Given the description of an element on the screen output the (x, y) to click on. 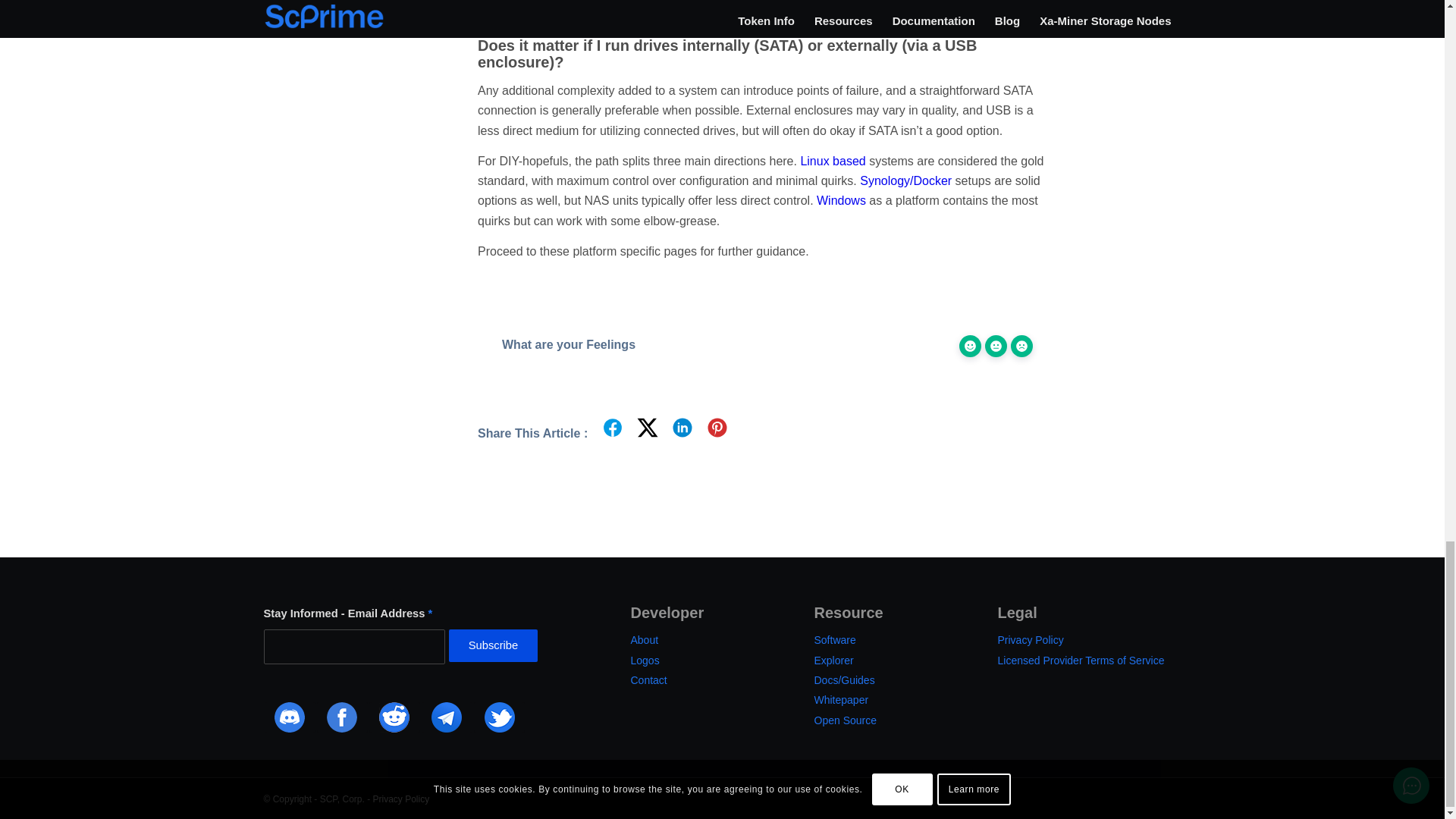
Telegram (446, 716)
Subscribe (492, 645)
Reddit (394, 716)
Twitter (499, 716)
Facebook (342, 716)
Discord (288, 716)
